Given the description of an element on the screen output the (x, y) to click on. 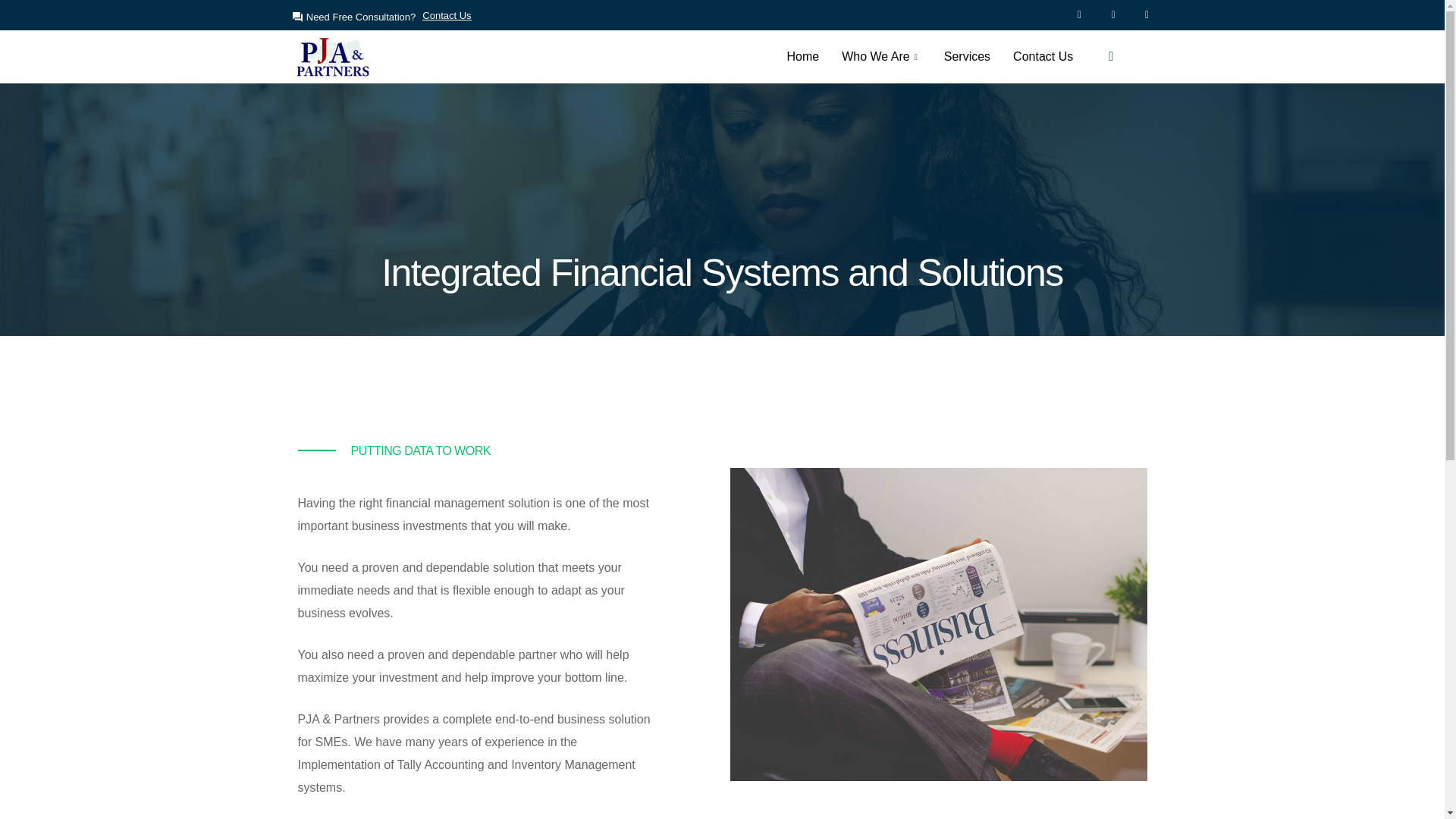
Contact Us (1042, 56)
Page 4 (505, 645)
Who We Are (881, 56)
Contact Us (446, 14)
Services (967, 56)
Home (803, 56)
